Given the description of an element on the screen output the (x, y) to click on. 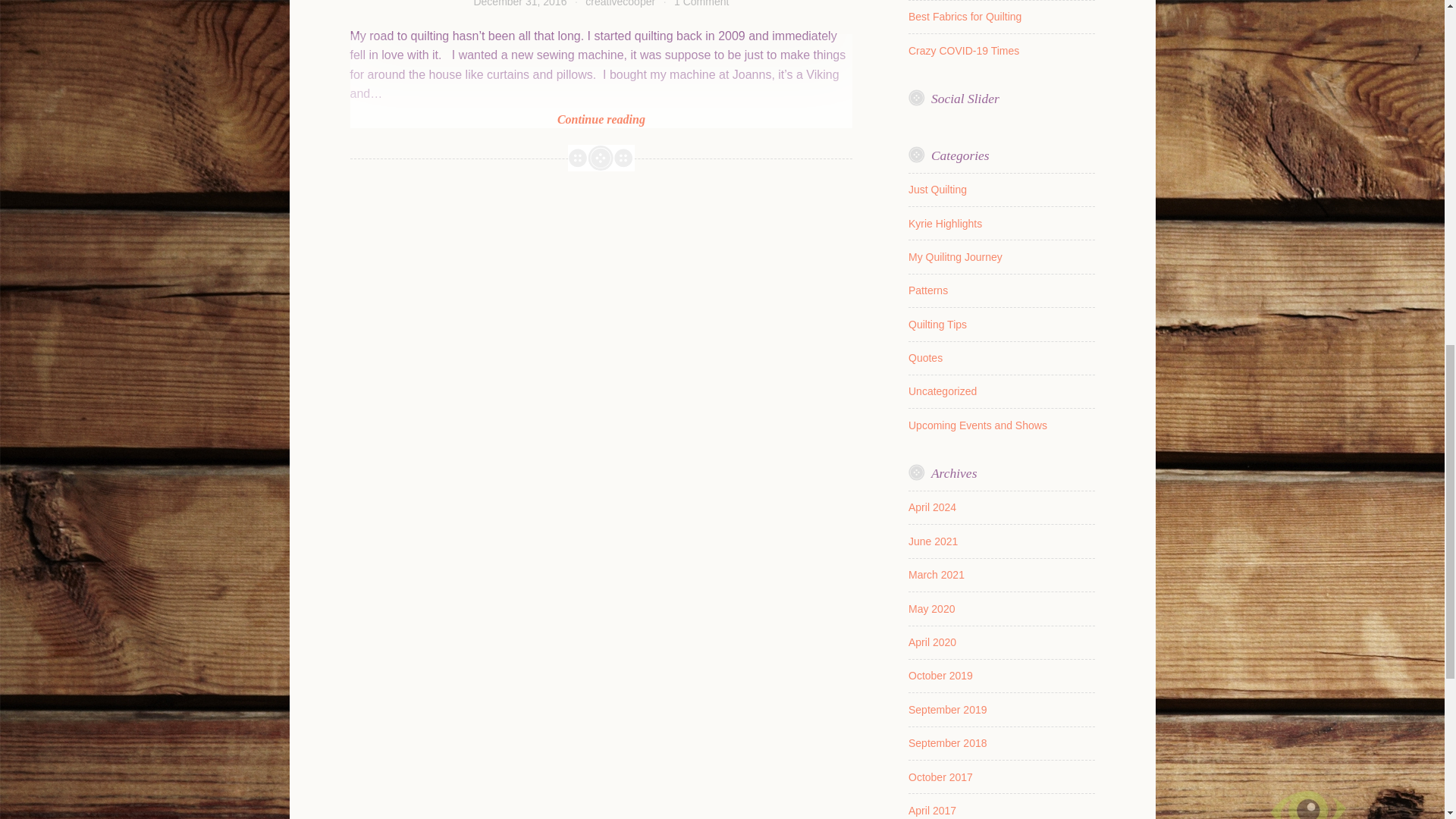
My Quilitng Journey (955, 256)
March 2021 (935, 574)
Kyrie Highlights (601, 80)
Crazy COVID-19 Times (944, 223)
Uncategorized (963, 50)
Upcoming Events and Shows (942, 390)
1 Comment (977, 425)
Best Fabrics for Quilting (701, 3)
creativecooper (965, 16)
Quilting Tips (620, 3)
Patterns (937, 324)
Just Quilting (927, 290)
June 2021 (937, 189)
Quotes (933, 541)
